Given the description of an element on the screen output the (x, y) to click on. 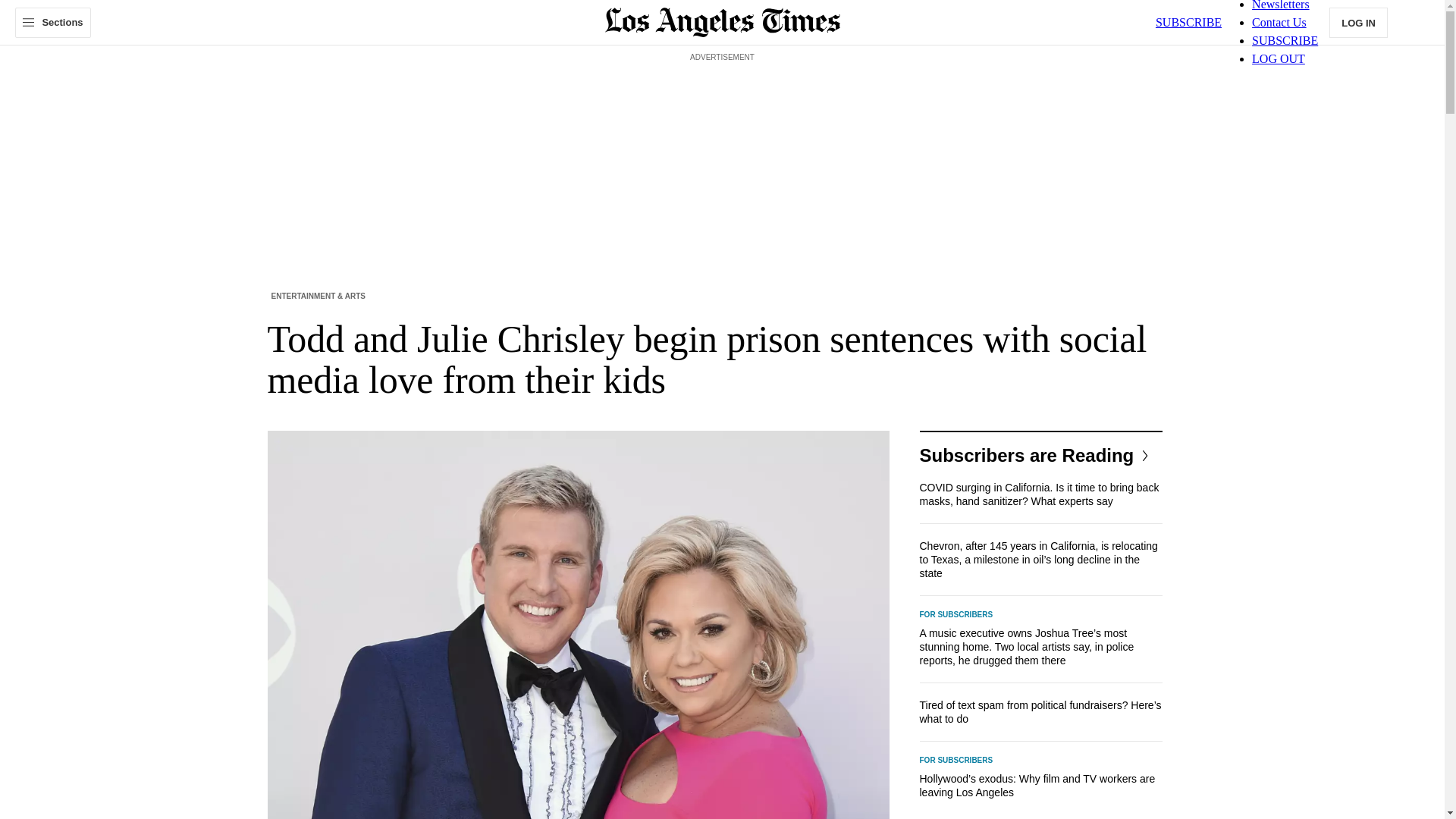
3rd party ad content (721, 100)
